Given the description of an element on the screen output the (x, y) to click on. 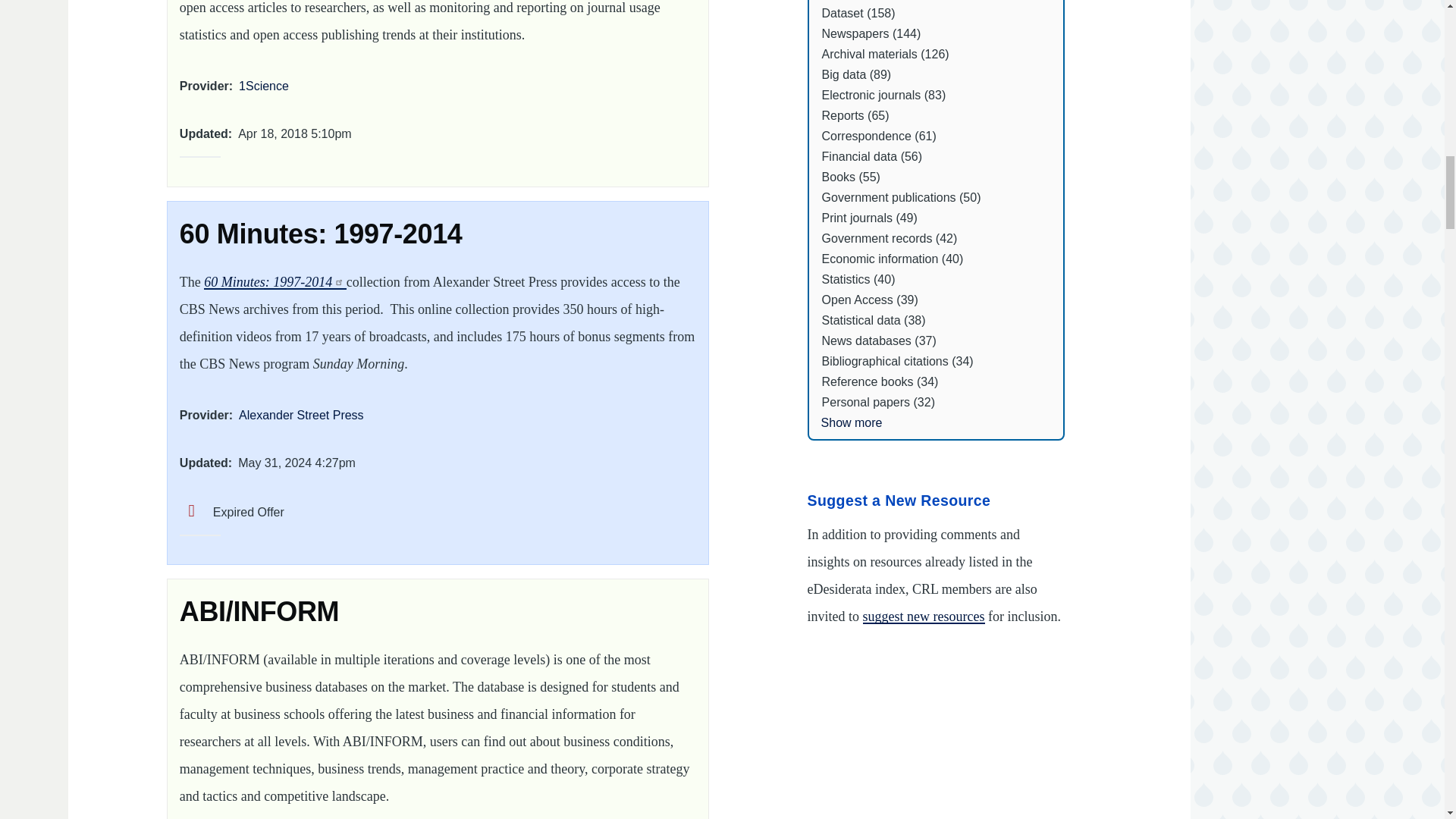
Expired Offer (231, 512)
